Given the description of an element on the screen output the (x, y) to click on. 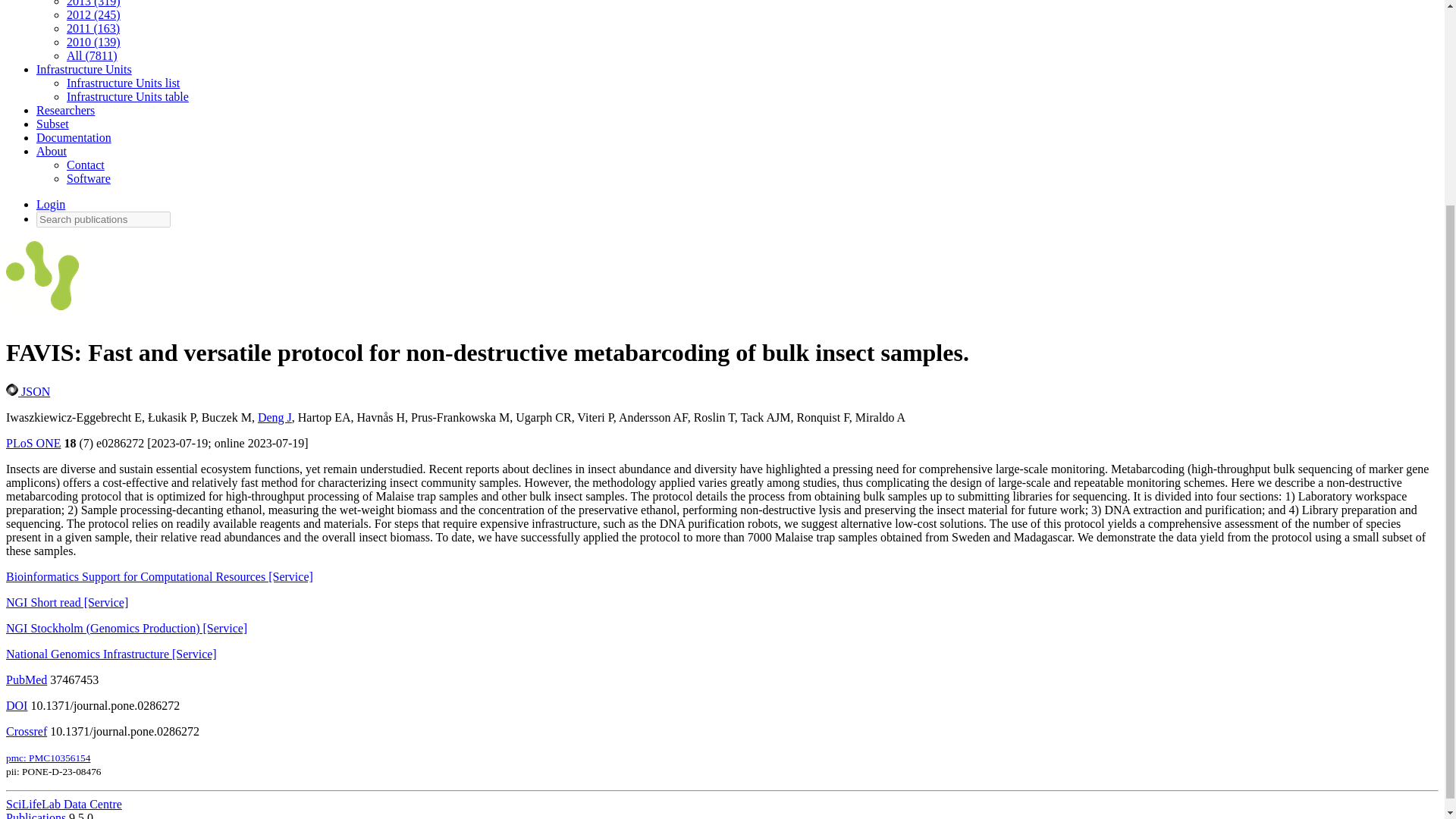
Infrastructure Units list (122, 82)
SciLifeLab Infrastructure Units Publications (41, 279)
Deng J (274, 417)
About (51, 151)
Login (50, 204)
Subset (52, 123)
PubMed (25, 679)
Infrastructure Units (84, 69)
Contact (85, 164)
Researchers (65, 110)
JSON (27, 391)
PLoS ONE (33, 442)
Infrastructure Units table (127, 96)
Software (88, 178)
Documentation (74, 137)
